Given the description of an element on the screen output the (x, y) to click on. 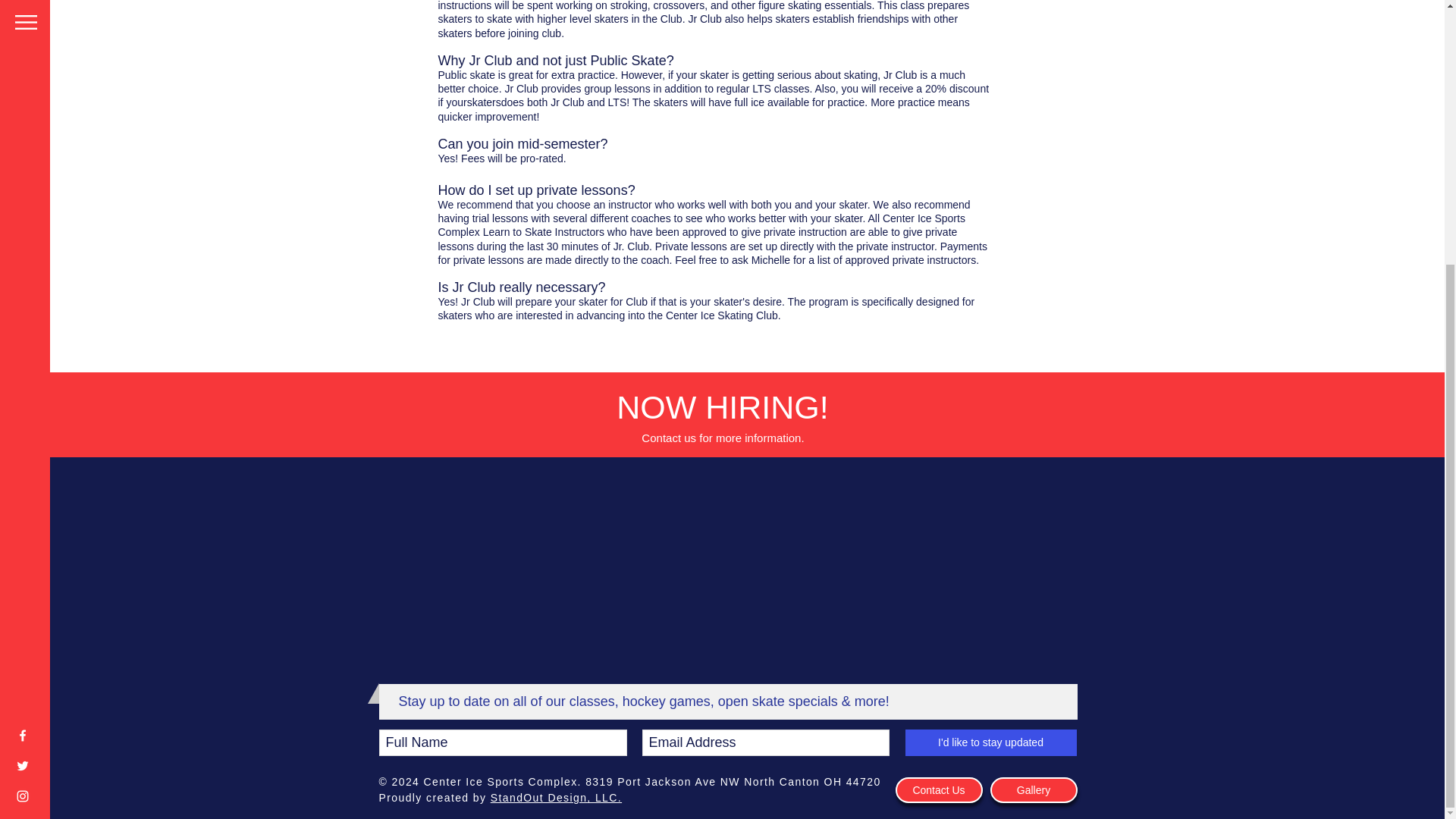
Gallery (1033, 790)
Contact Us (938, 790)
I'd like to stay updated (991, 742)
StandOut Design, LLC. (555, 797)
